Given the description of an element on the screen output the (x, y) to click on. 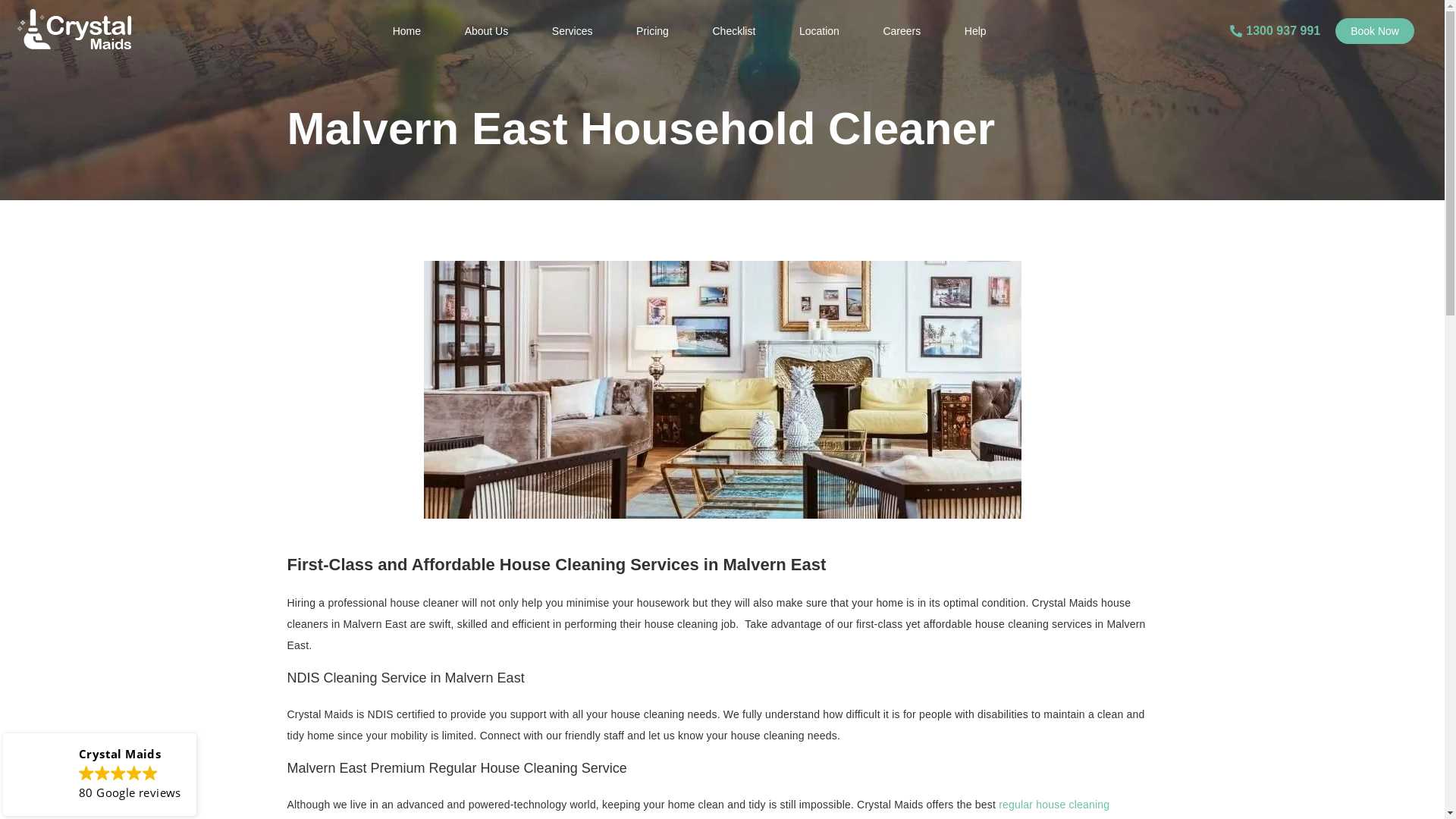
Location Element type: text (819, 30)
Book Now Element type: text (1374, 30)
Home Element type: text (406, 30)
Crystal Maids
80 Google reviews Element type: text (99, 774)
1300 937 991 Element type: text (1275, 30)
Careers Element type: text (901, 30)
Checklist Element type: text (734, 30)
Help Element type: text (975, 30)
About Us Element type: text (486, 30)
Pricing Element type: text (652, 30)
Services Element type: text (572, 30)
